Given the description of an element on the screen output the (x, y) to click on. 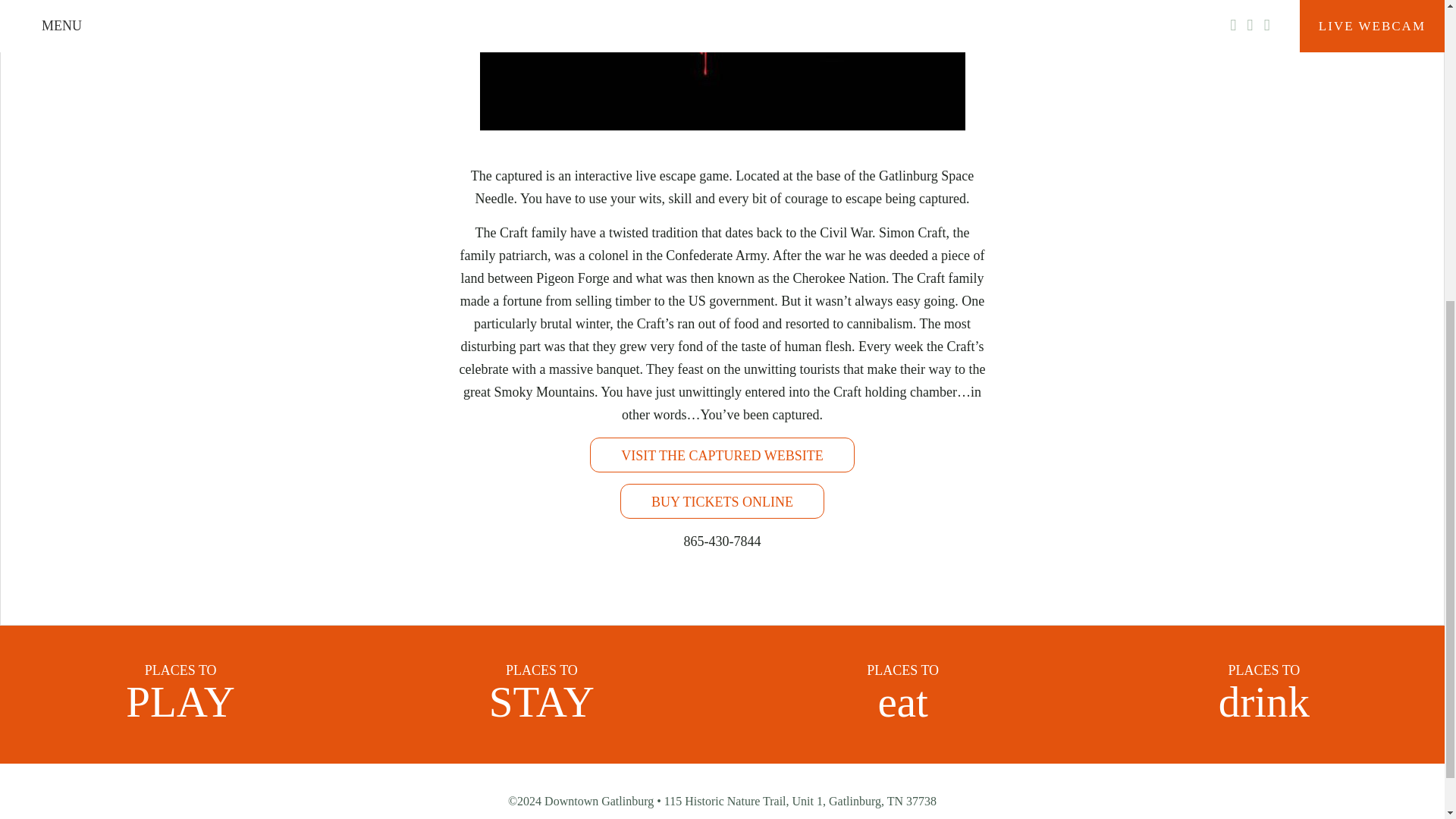
VISIT THE CAPTURED WEBSITE (721, 454)
BUY TICKETS ONLINE (1263, 694)
